Given the description of an element on the screen output the (x, y) to click on. 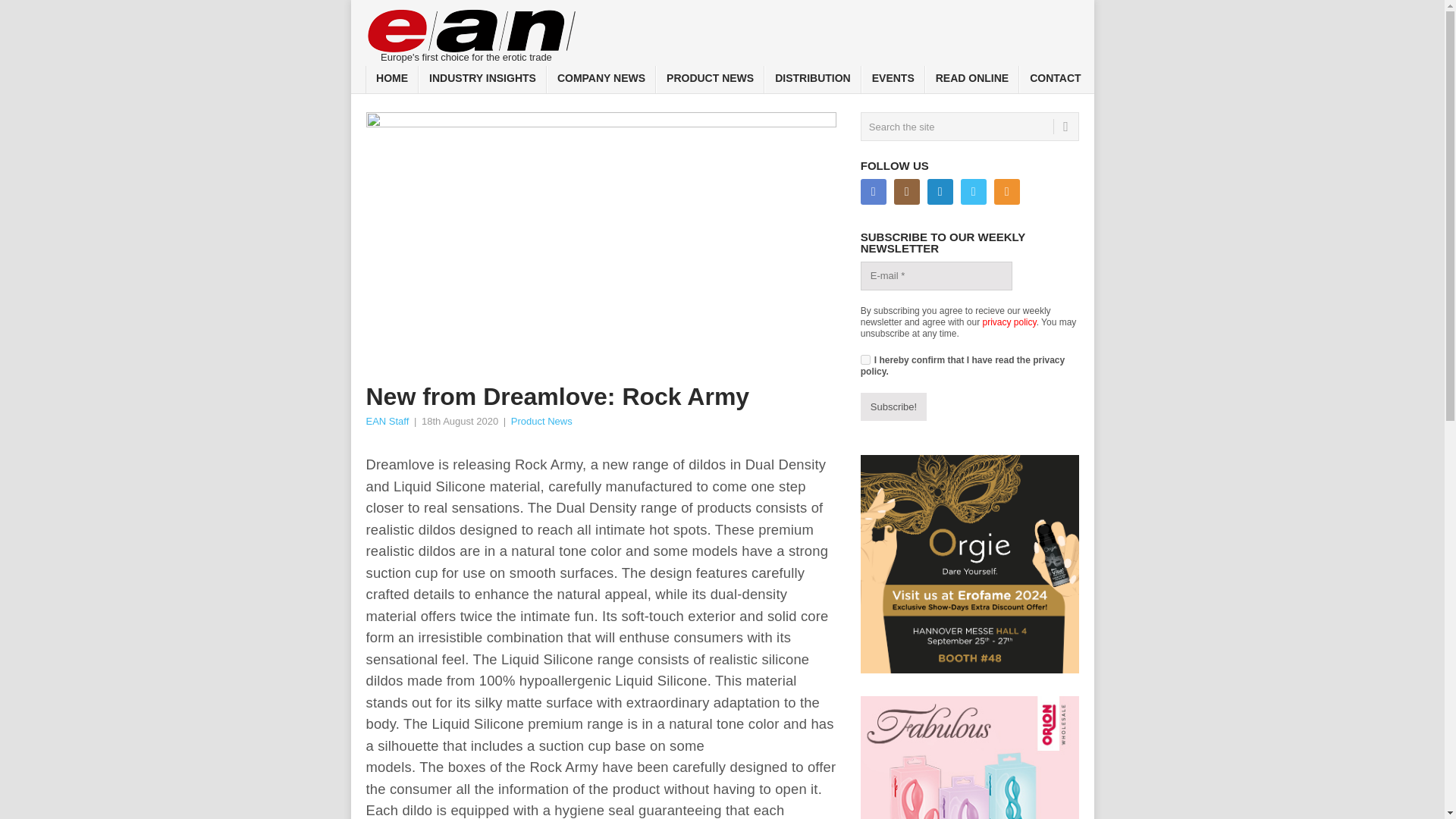
EAN Staff (387, 420)
Twitter (973, 191)
Subscribe! (893, 407)
privacy policy (1009, 321)
Europe's first choice for the erotic trade (472, 32)
READ ONLINE (971, 80)
INDUSTRY INSIGHTS (483, 80)
Facebook (873, 191)
Instagram (906, 191)
CONTACT (1054, 80)
LinkedIn (940, 191)
HOME (392, 80)
RSS (1007, 191)
EVENTS (892, 80)
Posts by EAN Staff (387, 420)
